Given the description of an element on the screen output the (x, y) to click on. 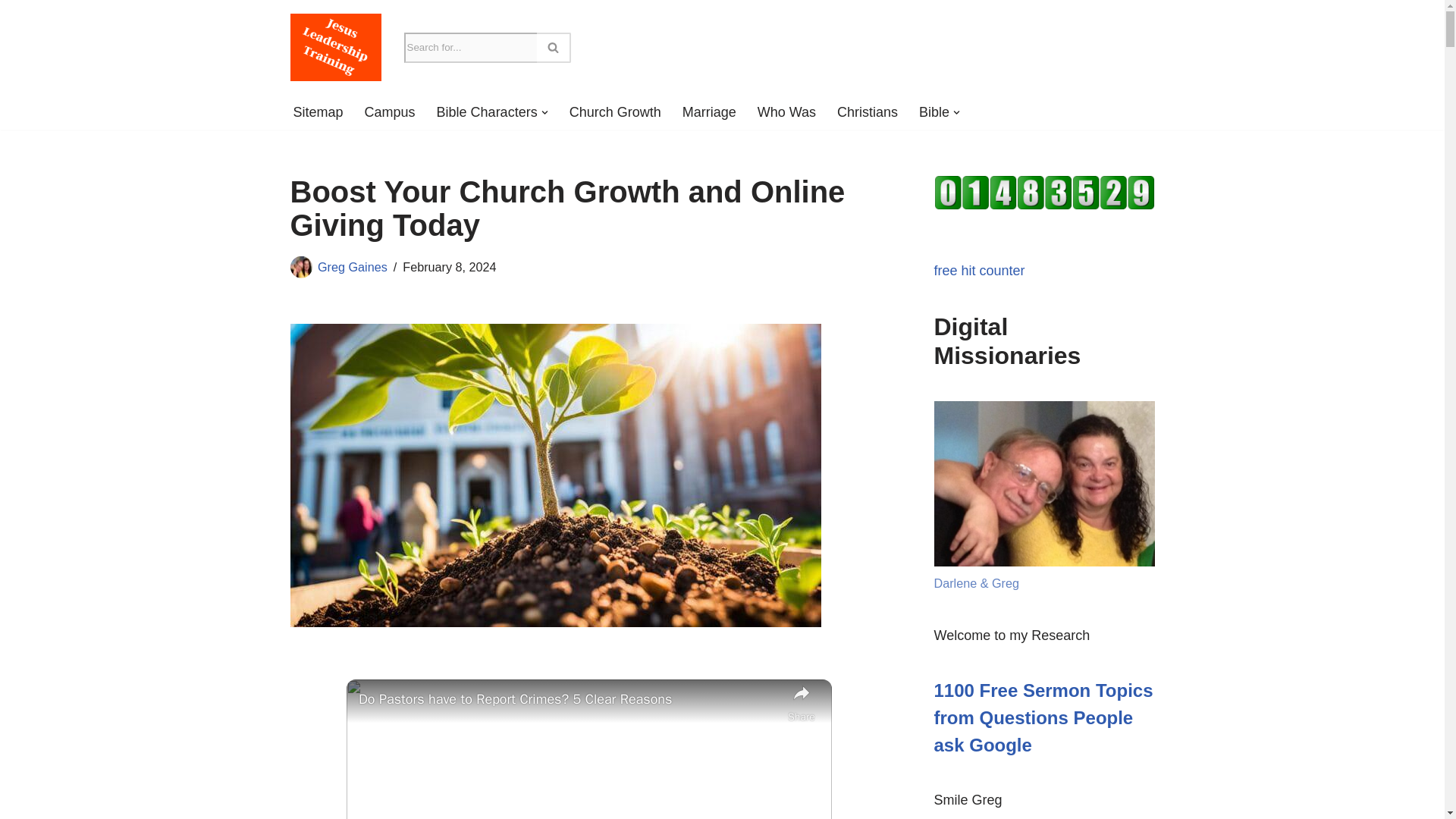
Skip to content (11, 31)
Marriage (709, 111)
share (801, 703)
Church Growth (615, 111)
Posts by Greg Gaines (352, 266)
Who Was (786, 111)
Bible (933, 111)
Christians (867, 111)
Sitemap (317, 111)
Bible Characters (486, 111)
Campus (389, 111)
